Given the description of an element on the screen output the (x, y) to click on. 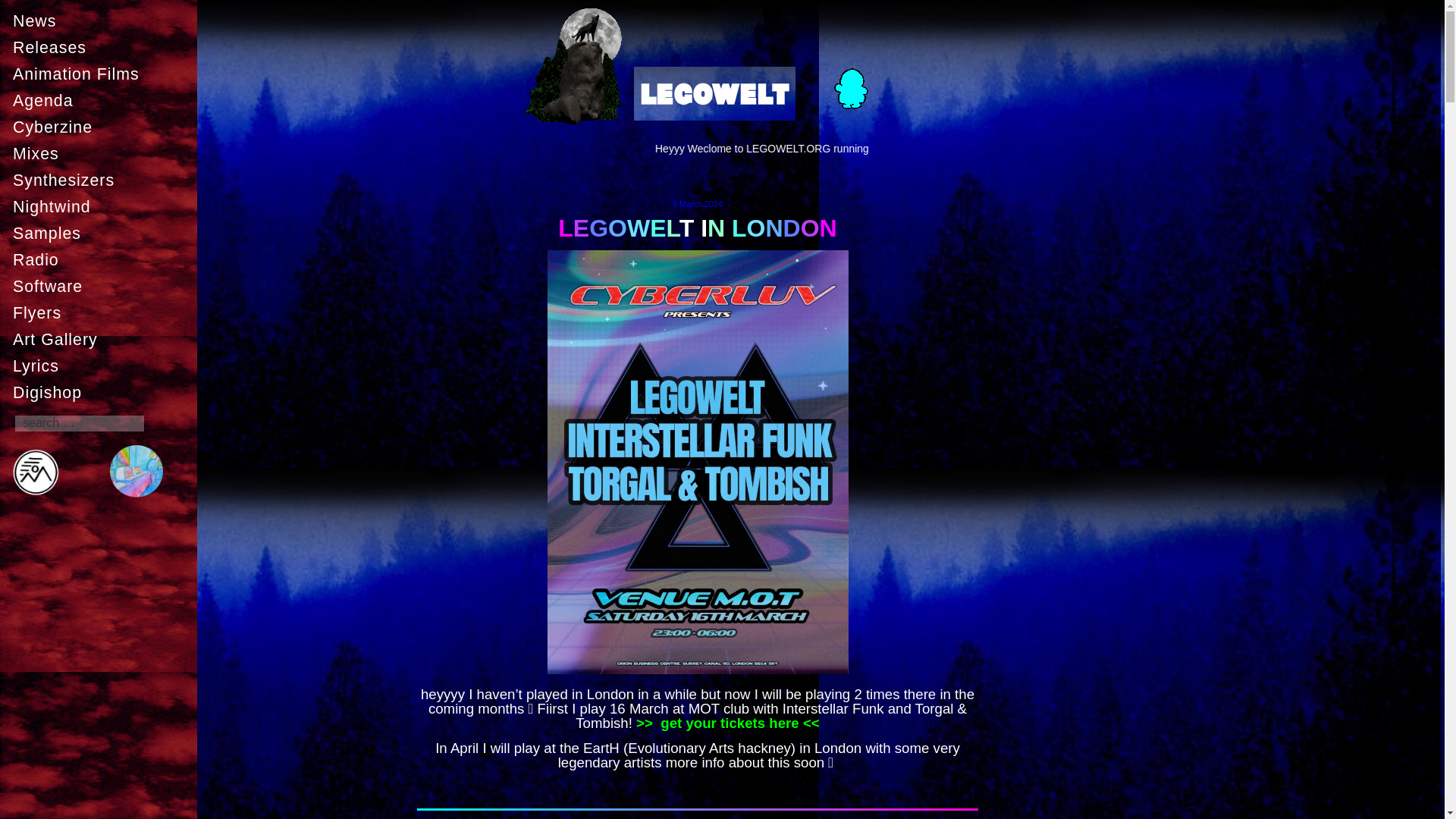
Agenda (102, 100)
Radio (102, 259)
Samples (102, 233)
Art Gallery (102, 339)
Search for: (79, 423)
Mixes (102, 153)
Digishop (102, 392)
Lyrics (102, 366)
Search (21, 6)
Synthesizers (102, 180)
